Given the description of an element on the screen output the (x, y) to click on. 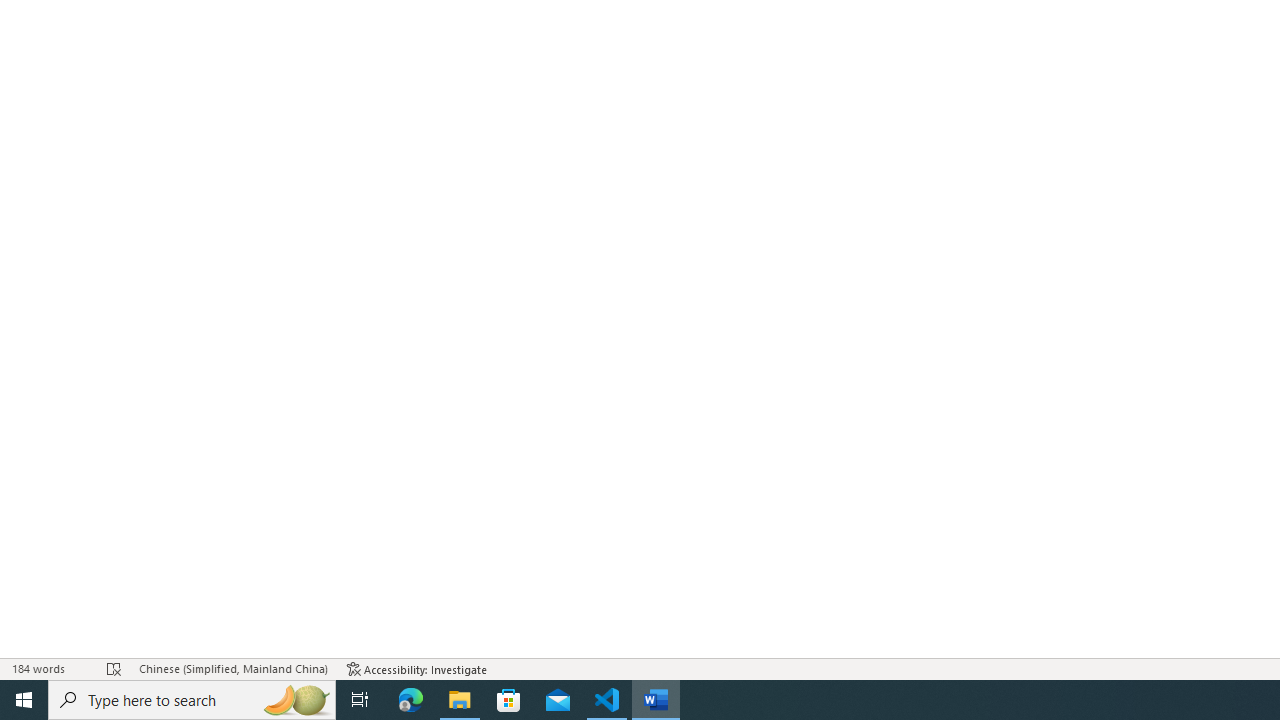
Spelling and Grammar Check Errors (114, 668)
Word Count 184 words (49, 668)
Accessibility Checker Accessibility: Investigate (417, 668)
Language Chinese (Simplified, Mainland China) (232, 668)
